Given the description of an element on the screen output the (x, y) to click on. 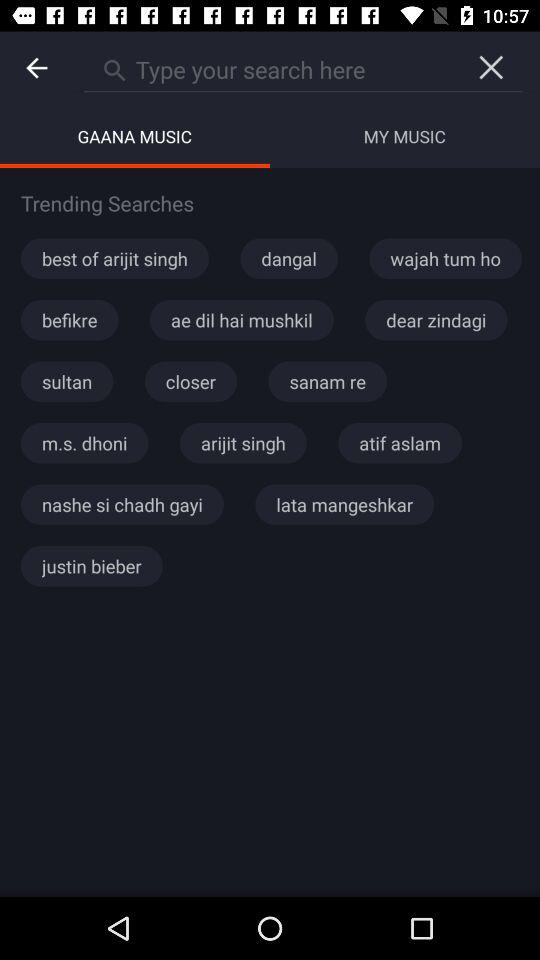
turn on app above justin bieber (122, 504)
